Given the description of an element on the screen output the (x, y) to click on. 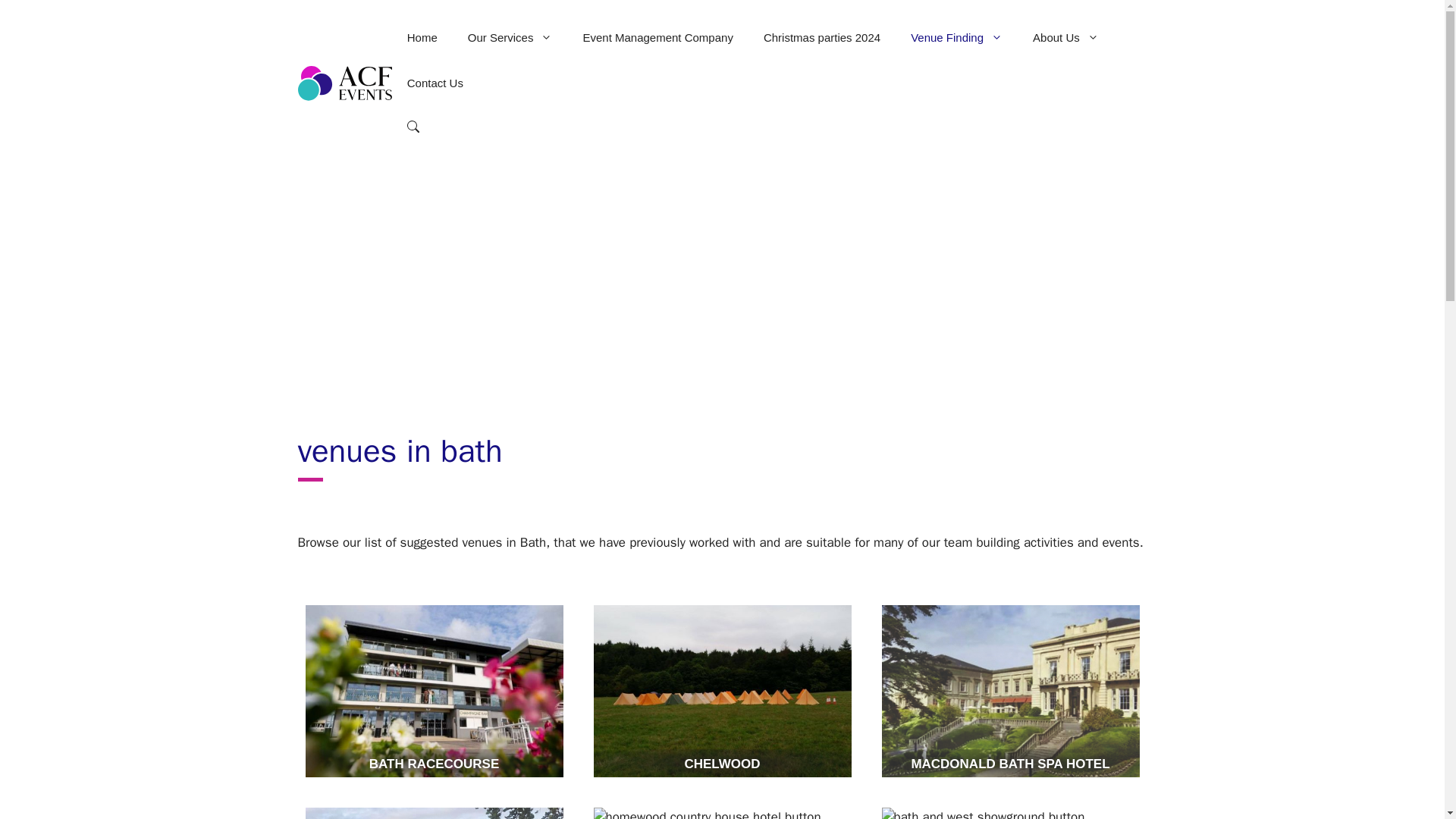
Our Services (509, 37)
About Us (1065, 37)
Venue Finding (956, 37)
Event Management Company (657, 37)
Team Building ACF Events (344, 82)
Christmas parties 2024 (821, 37)
Home (421, 37)
Team Building ACF Events (344, 82)
